Given the description of an element on the screen output the (x, y) to click on. 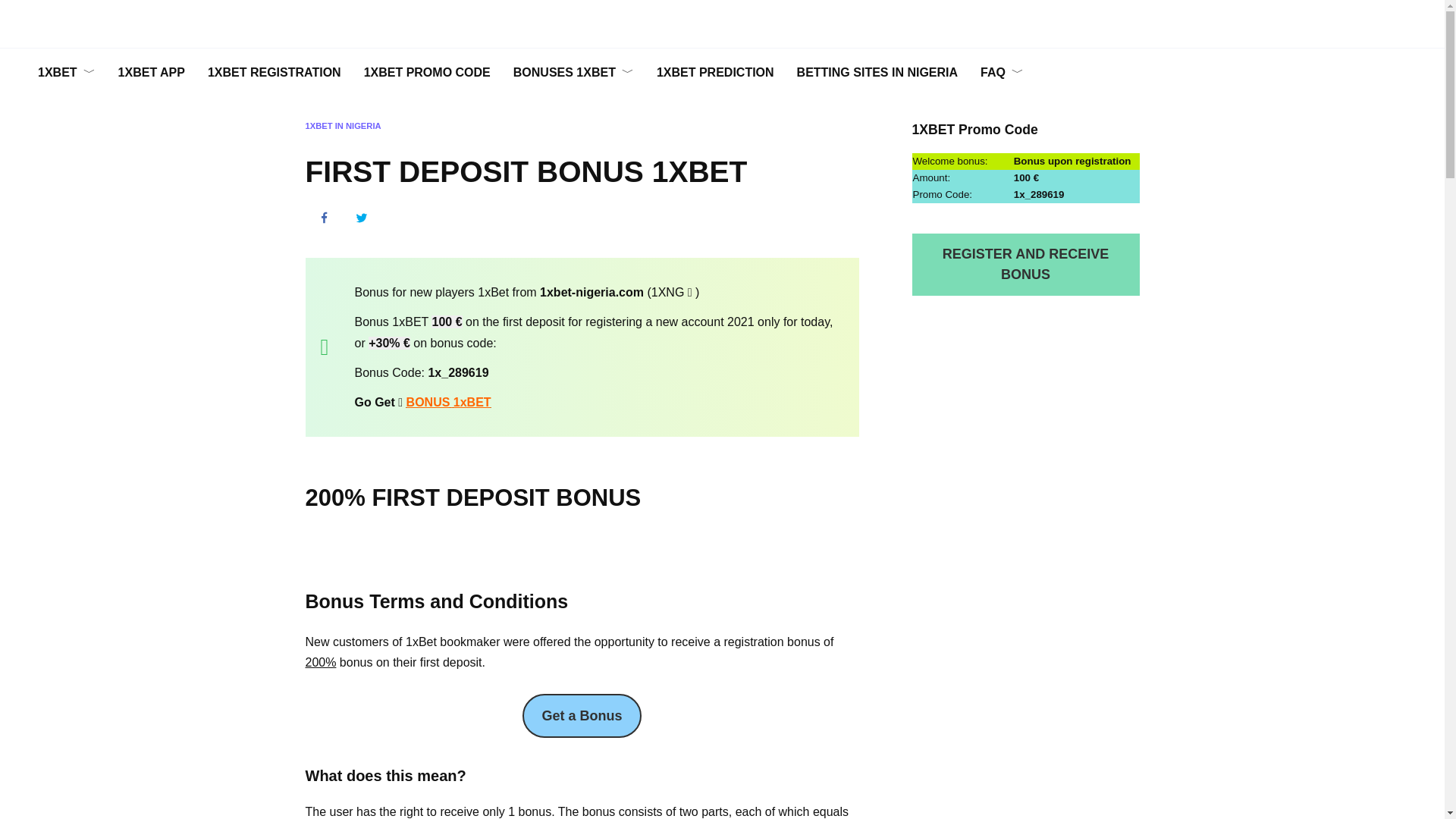
1XBET (66, 72)
1XBET IN NIGERIA (342, 125)
BETTING SITES IN NIGERIA (877, 72)
BONUSES 1XBET (573, 72)
1XBET PREDICTION (715, 72)
1XBET APP (151, 72)
Get a Bonus (581, 715)
1XBET REGISTRATION (274, 72)
FAQ (1002, 72)
1XBET PROMO CODE (427, 72)
BONUS (427, 401)
